Given the description of an element on the screen output the (x, y) to click on. 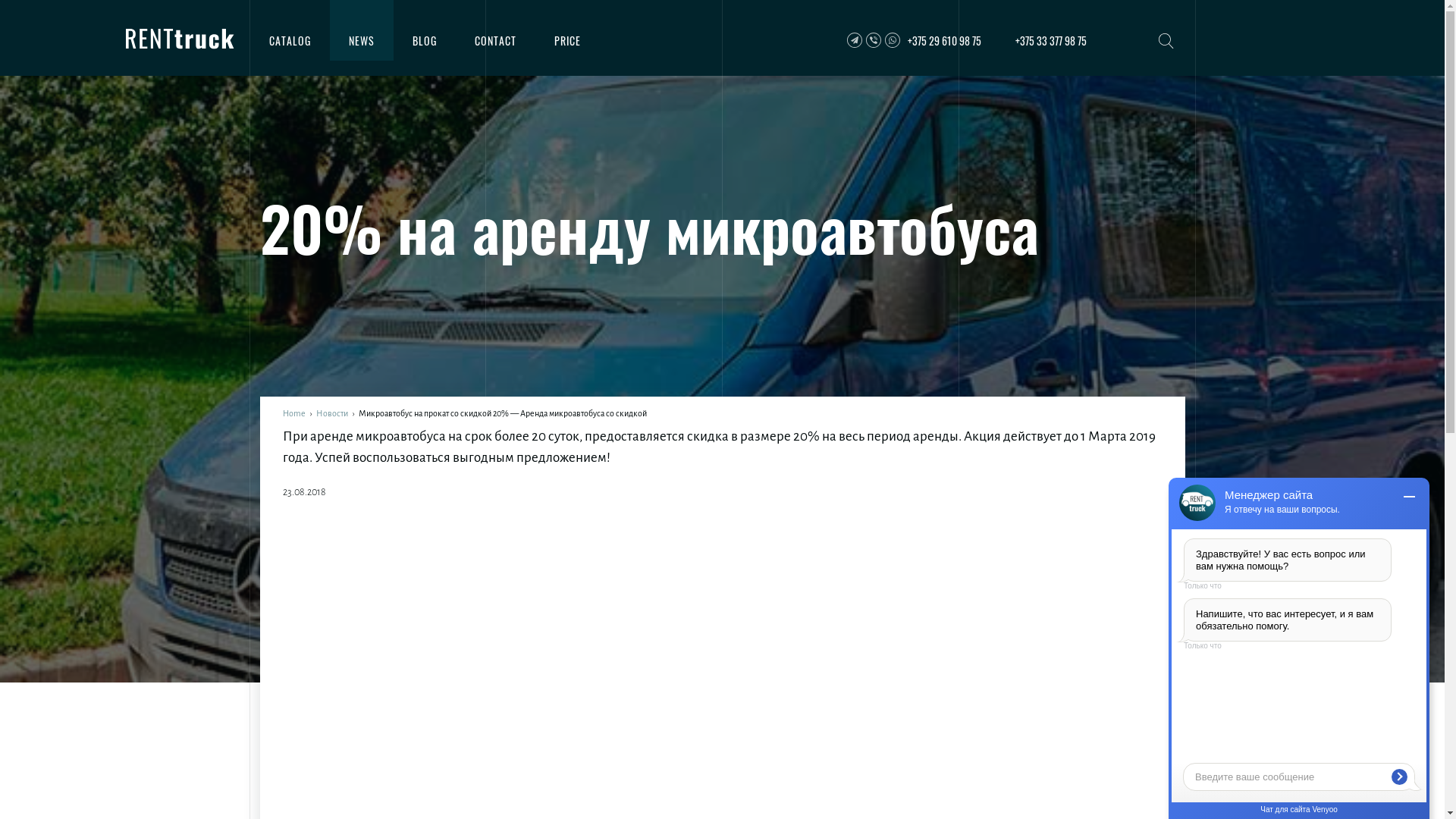
CONTACT Element type: text (494, 37)
+375 29 610 98 75 Element type: text (913, 40)
Home Element type: text (293, 412)
+375 33 377 98 75 Element type: text (1049, 40)
PRICE Element type: text (567, 37)
BLOG Element type: text (423, 37)
CATALOG Element type: text (289, 37)
NEWS Element type: text (360, 37)
